Given the description of an element on the screen output the (x, y) to click on. 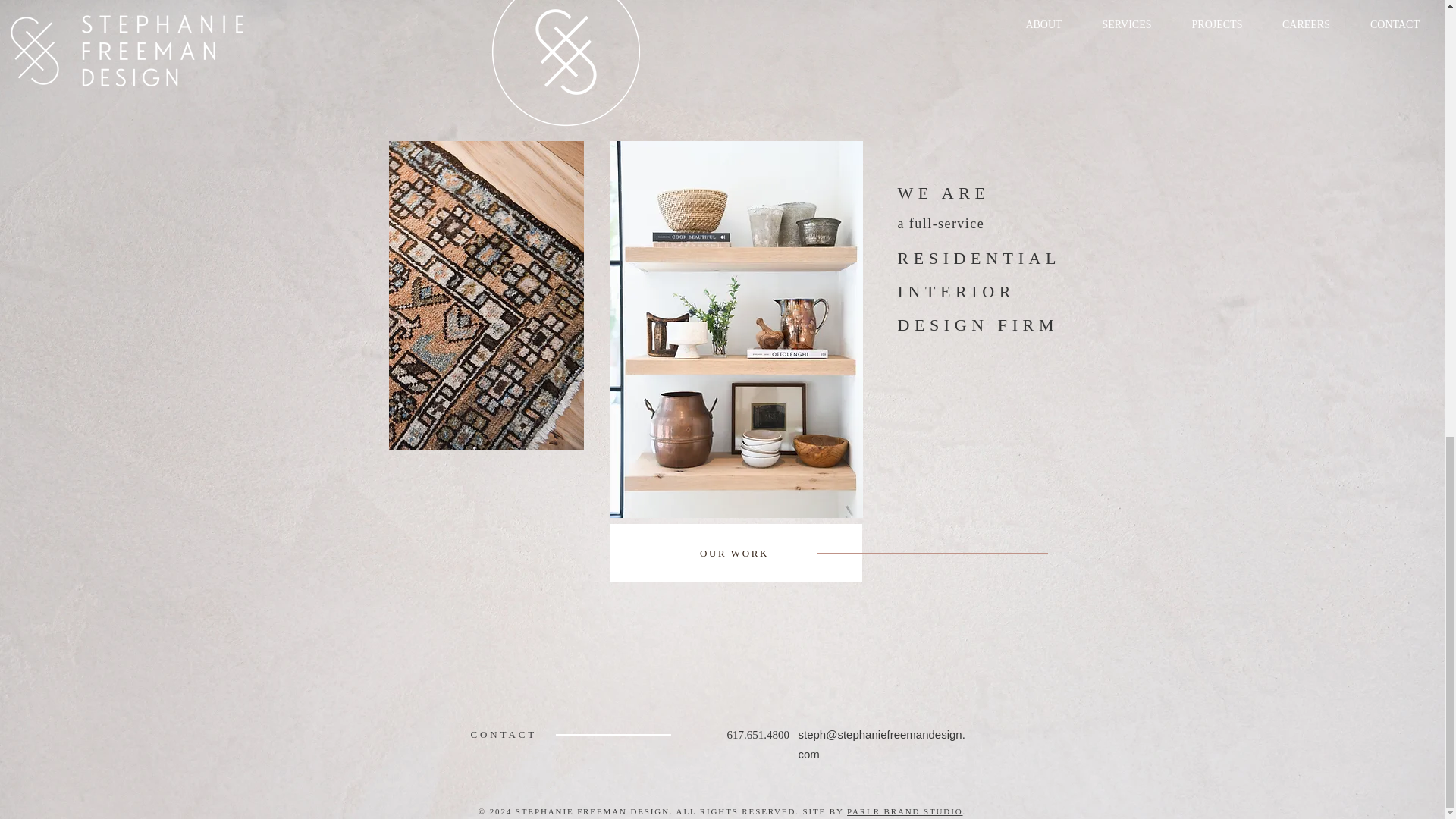
OUR WORK (735, 553)
PARLR BRAND STUDIO (904, 810)
CONTACT (503, 734)
617.651.4800 (757, 734)
